Given the description of an element on the screen output the (x, y) to click on. 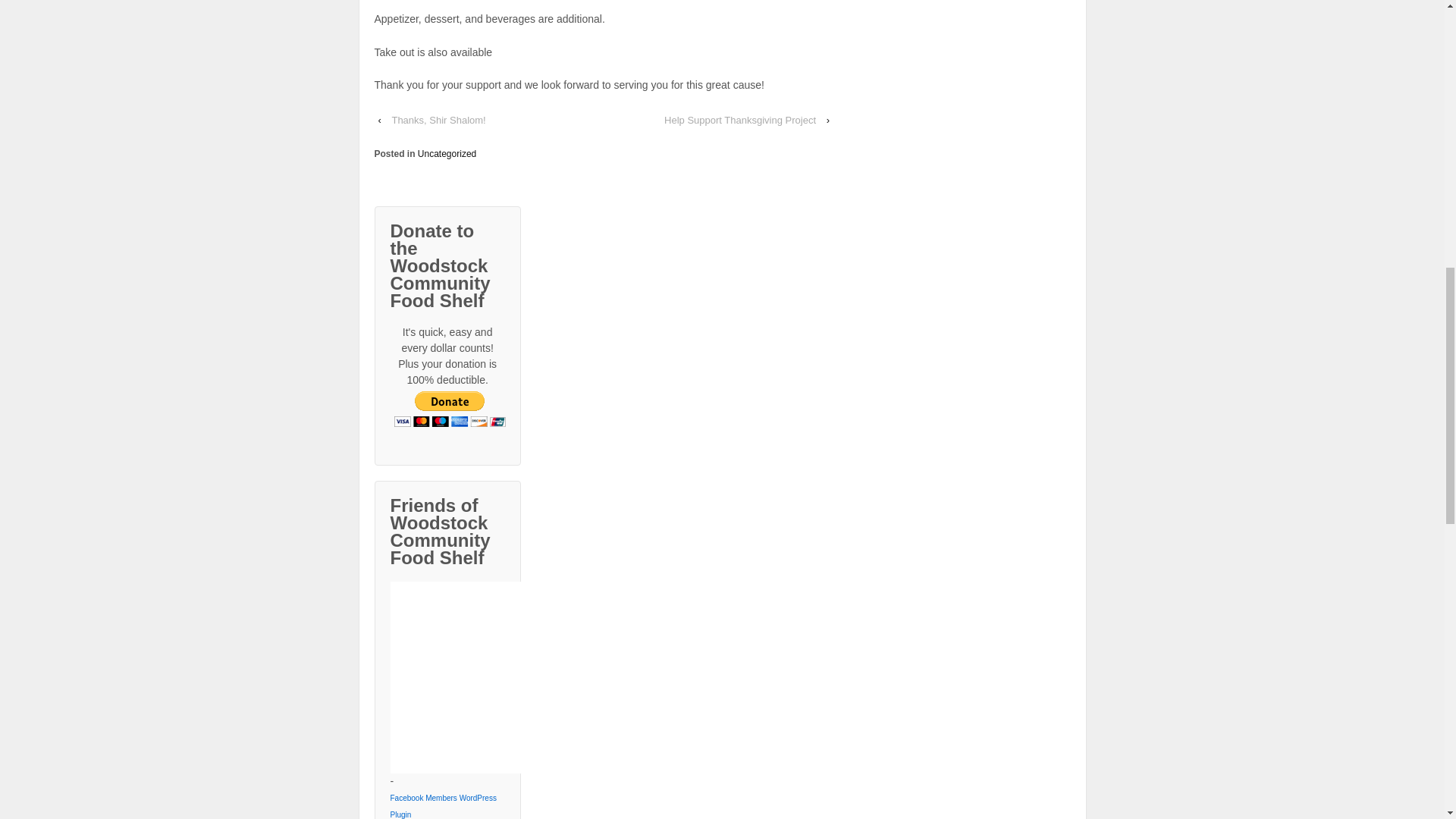
Help Support Thanksgiving Project (740, 119)
Facebook Members WordPress Plugin (446, 804)
Thanks, Shir Shalom! (438, 119)
Facebook Members WordPress Plugin (446, 804)
Uncategorized (446, 153)
